Given the description of an element on the screen output the (x, y) to click on. 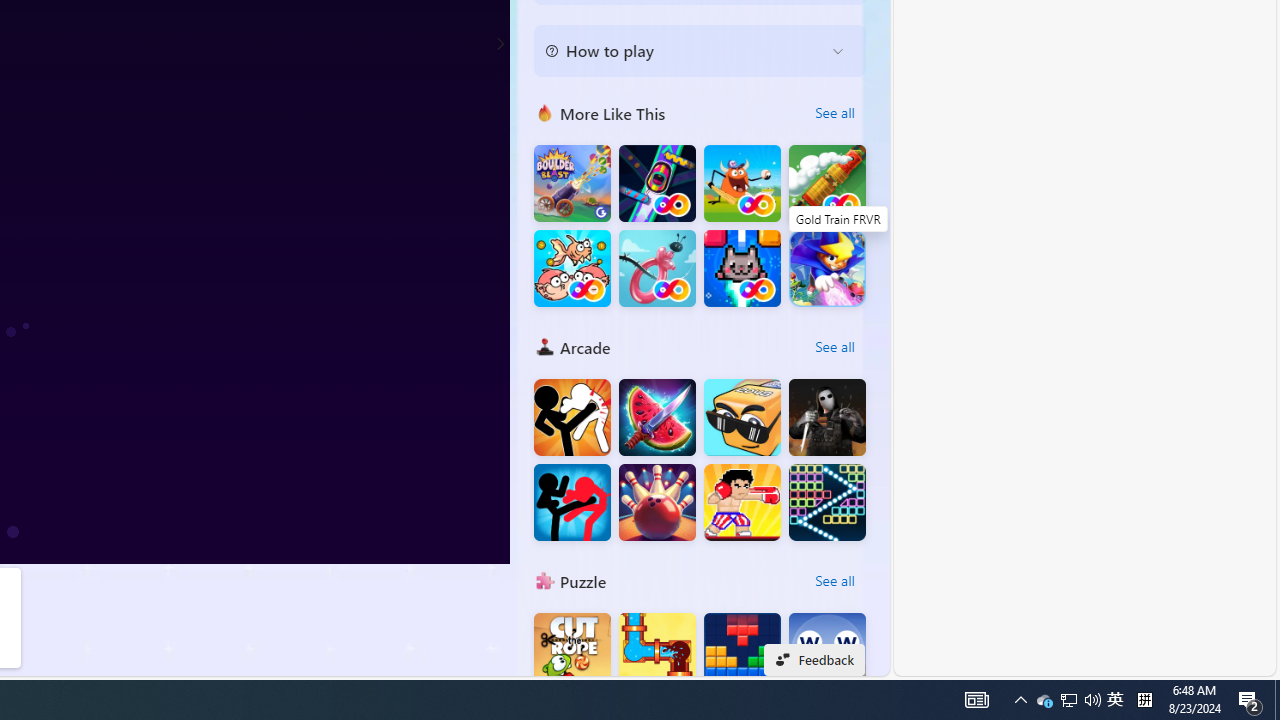
Fruit Chopper (657, 417)
Bricks Breaker Deluxe Crusher (827, 502)
Cut the Rope (571, 651)
Stickman fighter : Epic battle (571, 502)
Gold Train FRVR (827, 183)
Boxing fighter : Super punch (742, 502)
More Like This (544, 112)
Cubes2048 (742, 417)
Balloon FRVR (657, 268)
Castle Of Magic (827, 268)
Boulder Blast (571, 183)
Plumber World (657, 651)
Words of Wonders (827, 651)
Class: control (499, 43)
